Given the description of an element on the screen output the (x, y) to click on. 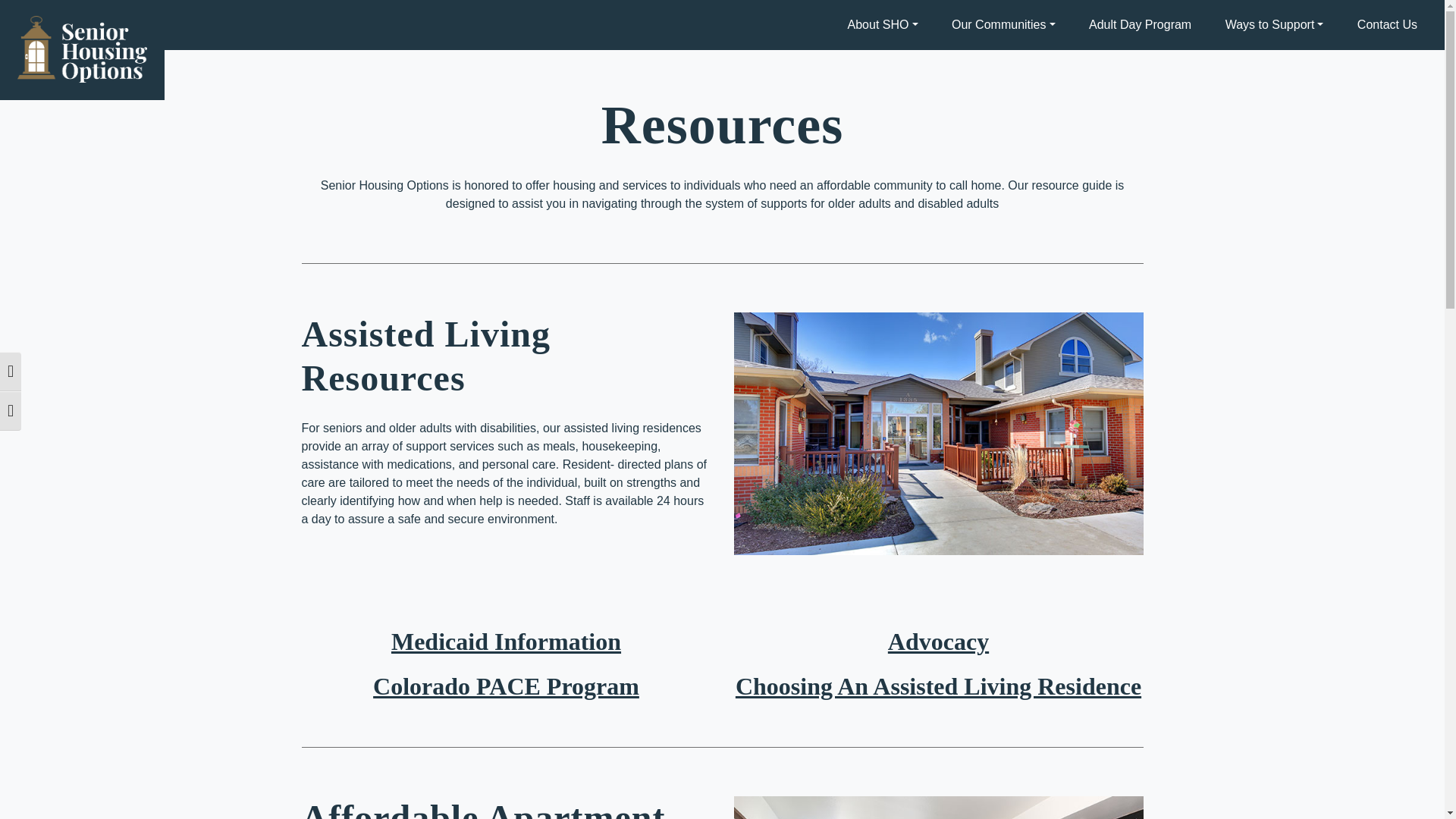
Senior Housing Options (112, 89)
Ways to Support (1274, 24)
Adult Day Program (1140, 24)
Colorado PACE Program (505, 686)
Advocacy (938, 641)
Contact Us (1387, 24)
About SHO (882, 24)
Choosing An Assisted Living Residence (938, 686)
Medicaid Information (506, 641)
Our Communities (1003, 24)
